Given the description of an element on the screen output the (x, y) to click on. 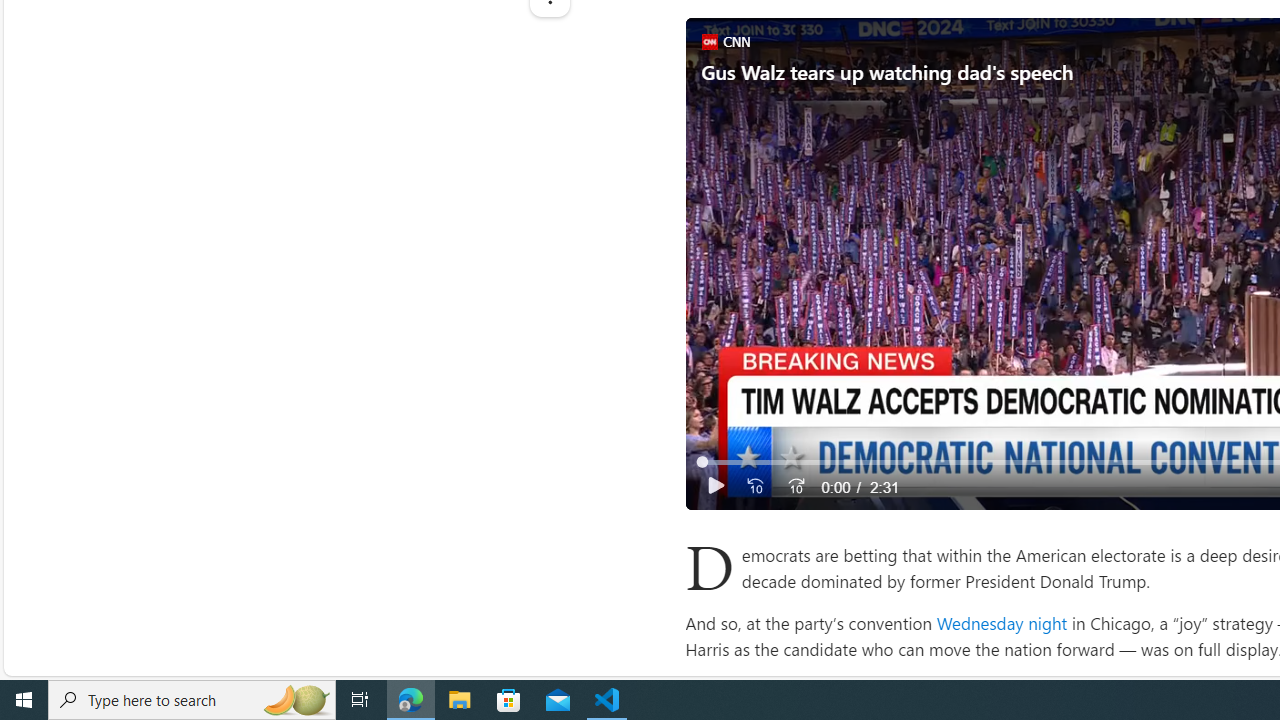
Seek Back (754, 486)
Play (715, 486)
Wednesday night (1001, 622)
Seek Forward (795, 486)
